Given the description of an element on the screen output the (x, y) to click on. 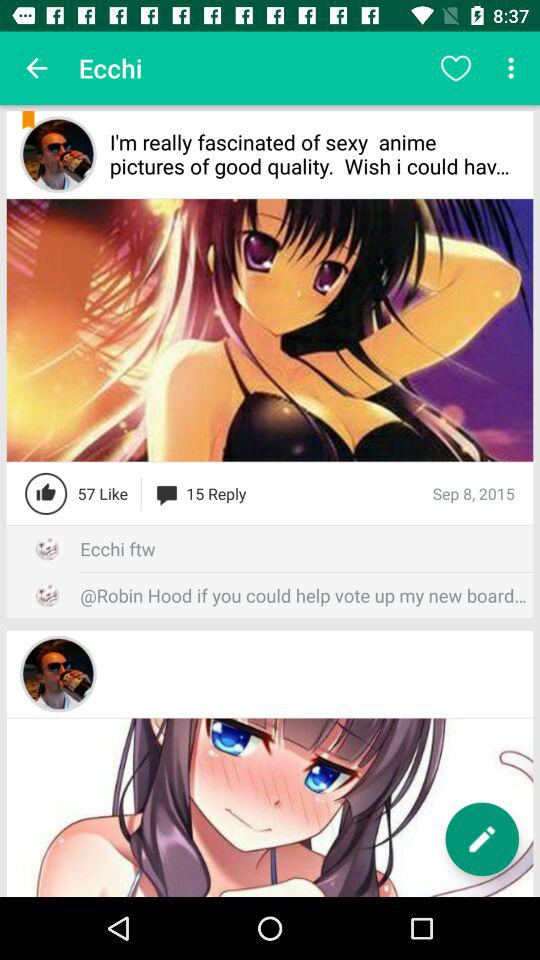
open the item at the bottom right corner (482, 839)
